Given the description of an element on the screen output the (x, y) to click on. 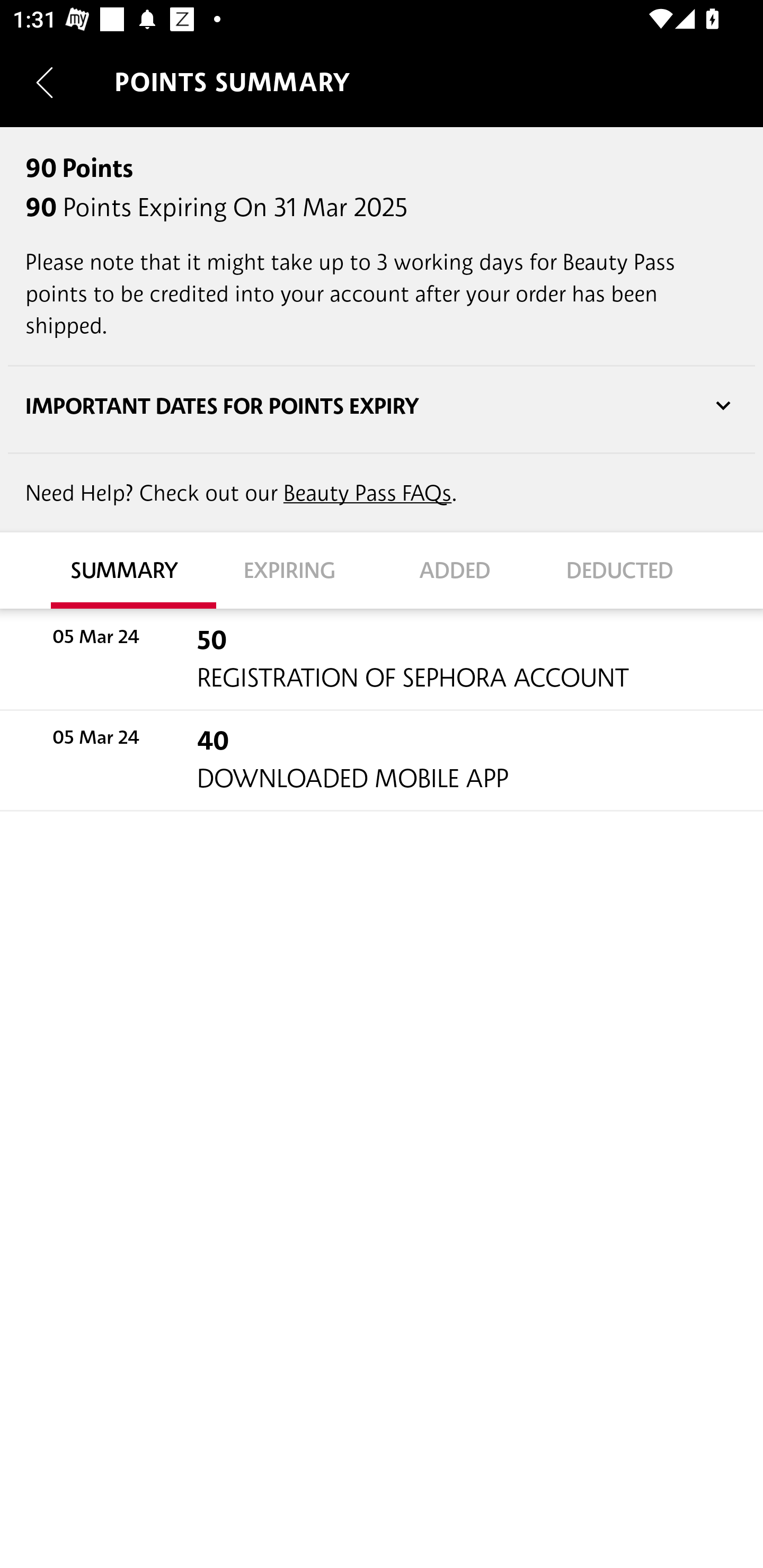
Navigate up (44, 82)
IMPORTANT DATES FOR POINTS EXPIRY (381, 406)
EXPIRING (298, 570)
ADDED (464, 570)
DEDUCTED (629, 570)
